Given the description of an element on the screen output the (x, y) to click on. 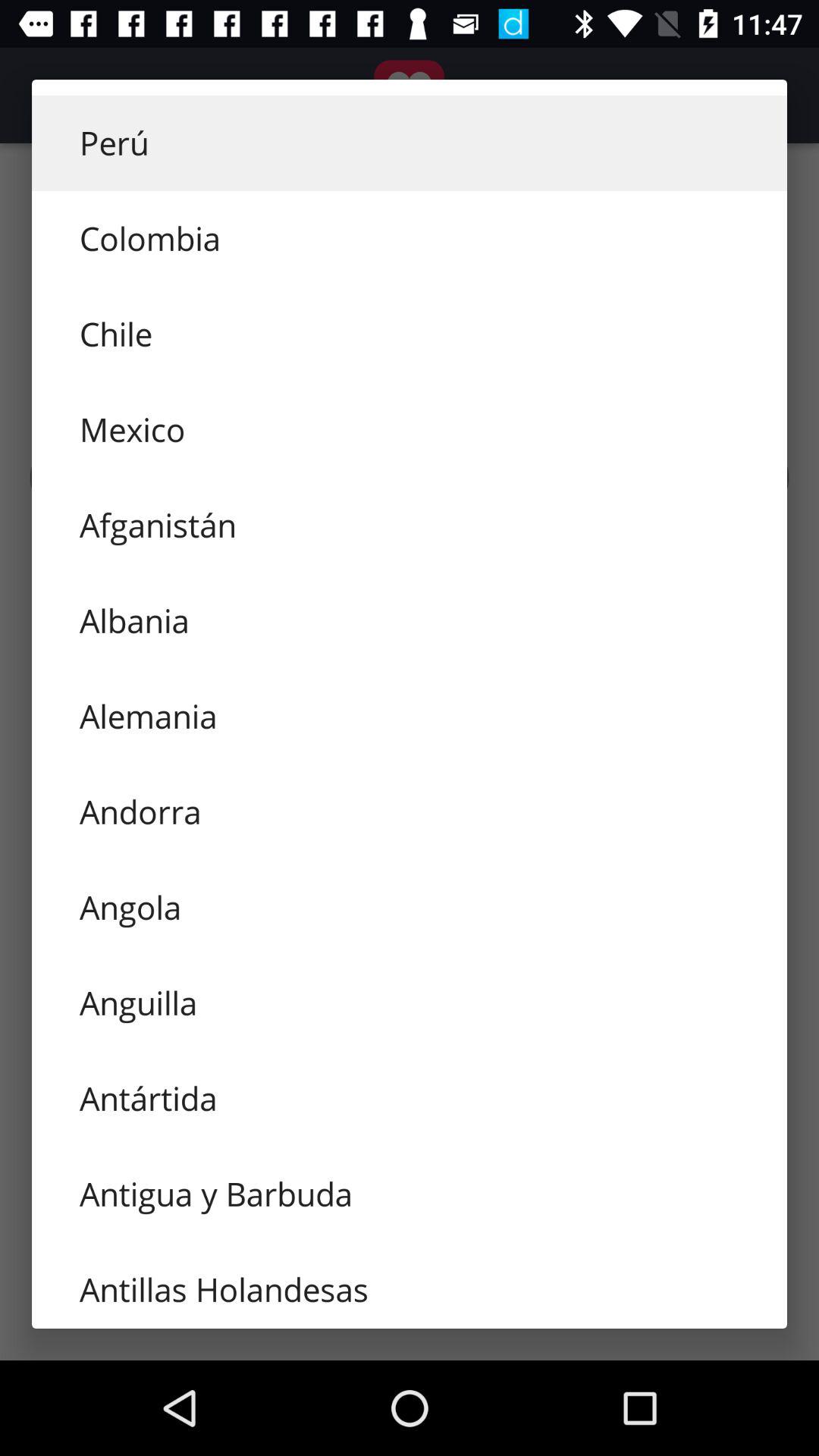
turn off the icon below chile item (409, 429)
